Given the description of an element on the screen output the (x, y) to click on. 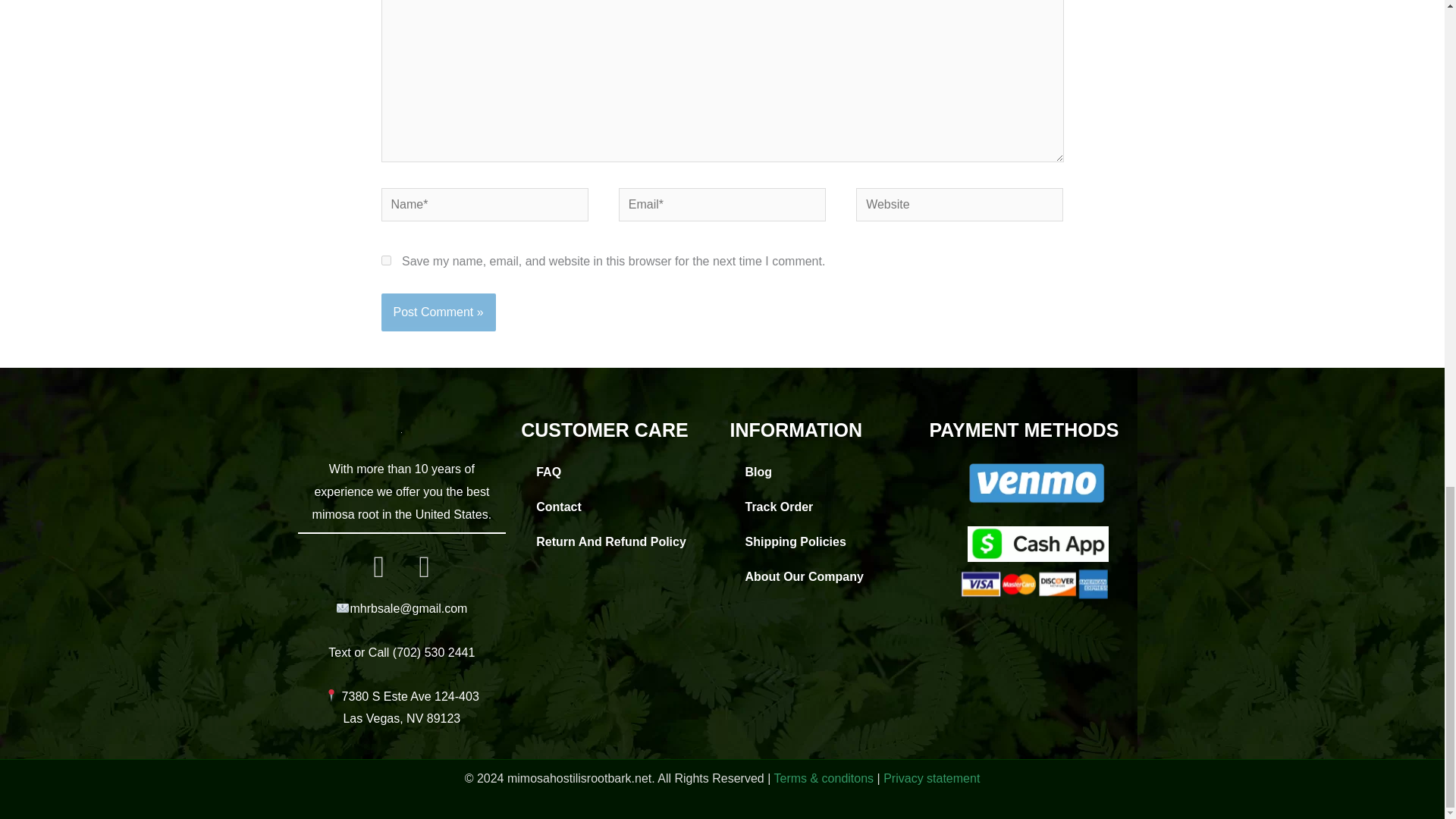
Contact (617, 506)
FAQ (617, 472)
yes (385, 260)
Return And Refund Policy (617, 541)
